Given the description of an element on the screen output the (x, y) to click on. 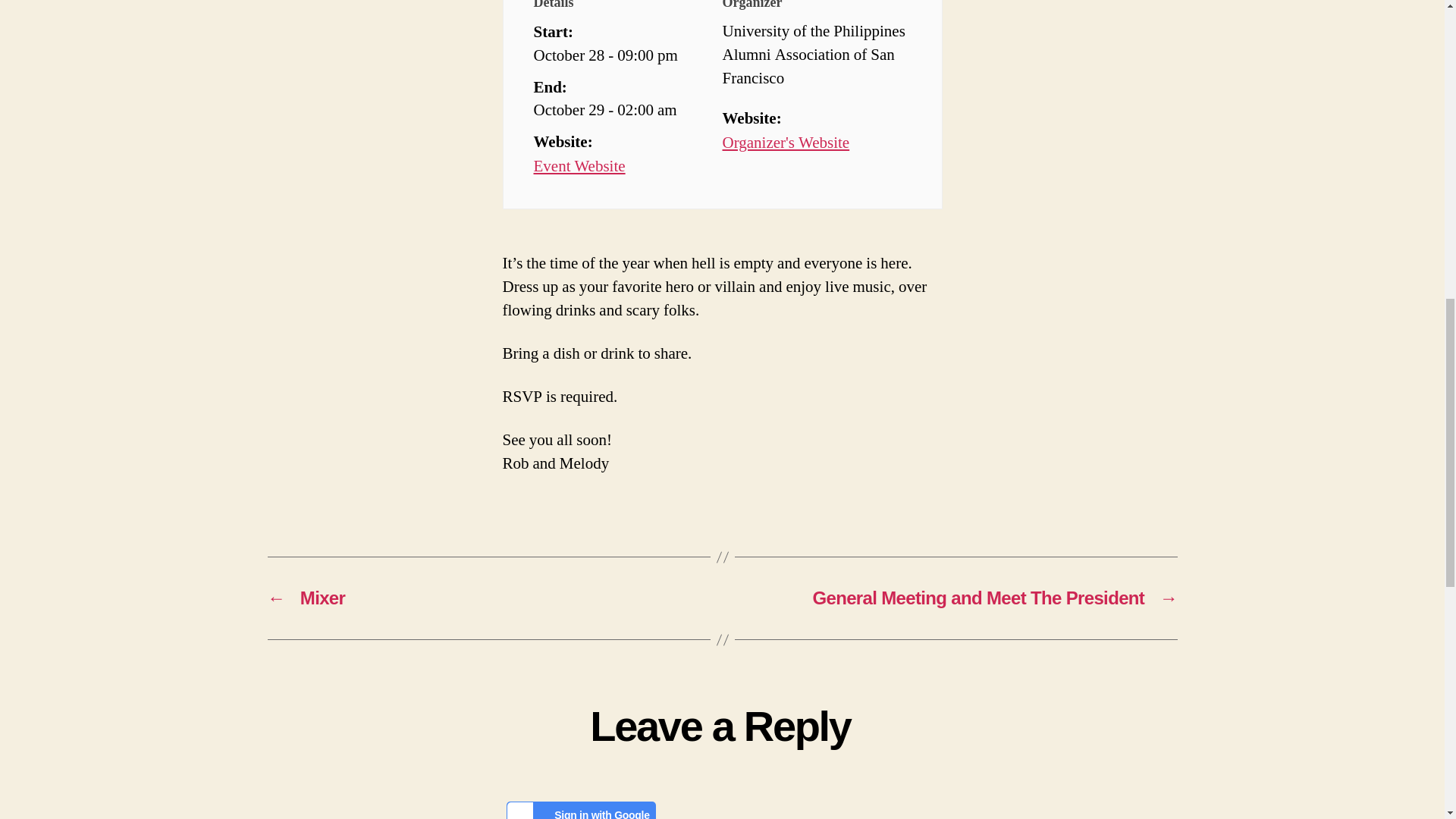
Event Website (580, 166)
Organizer's Website (785, 142)
Sign in with Google (581, 810)
